Given the description of an element on the screen output the (x, y) to click on. 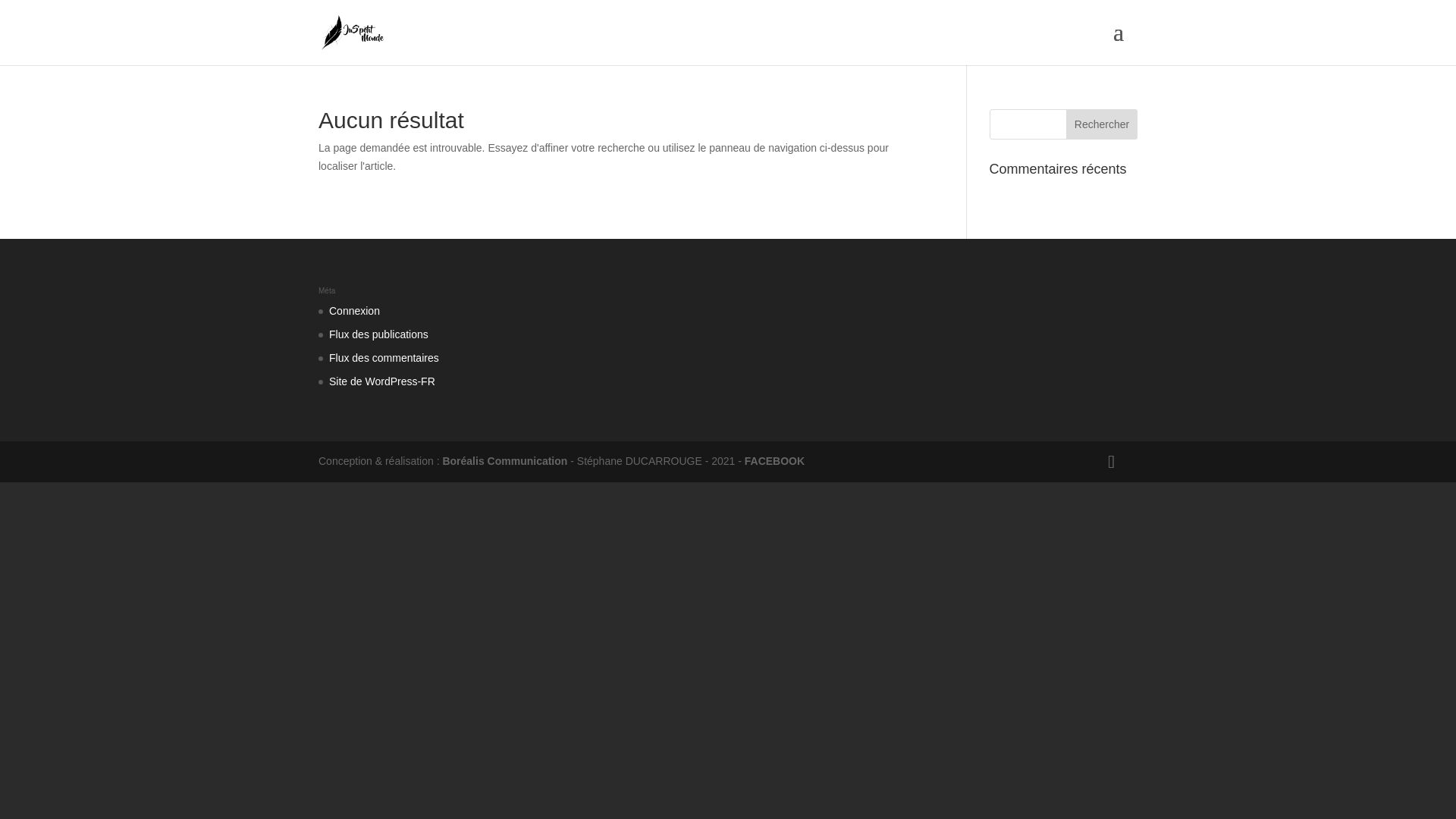
FACEBOOK (774, 460)
Rechercher (1101, 123)
Site de WordPress-FR (382, 381)
Connexion (354, 310)
Flux des publications (378, 334)
Flux des commentaires (384, 357)
Rechercher (1101, 123)
